Given the description of an element on the screen output the (x, y) to click on. 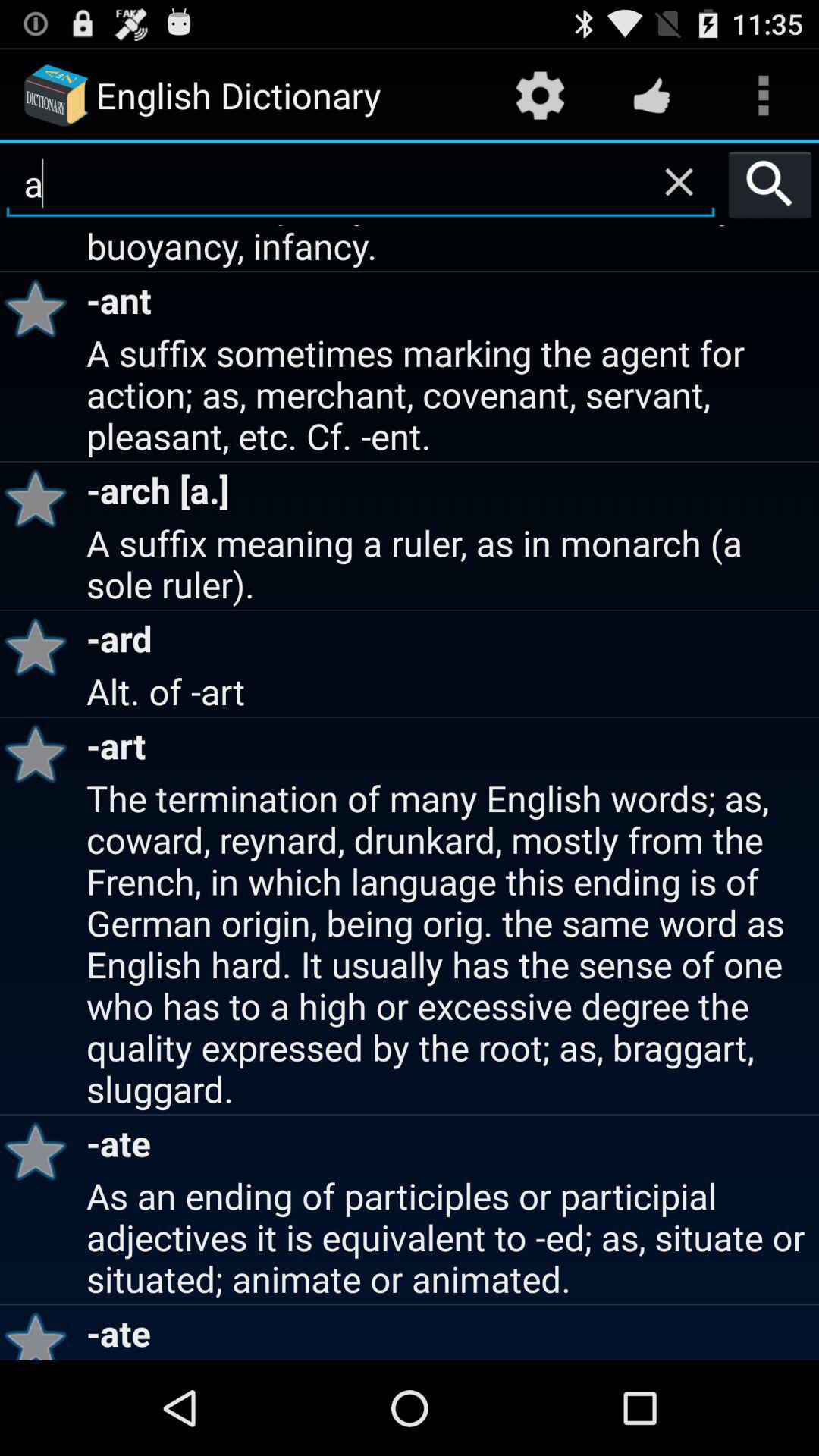
choose item next to the a (770, 184)
